Given the description of an element on the screen output the (x, y) to click on. 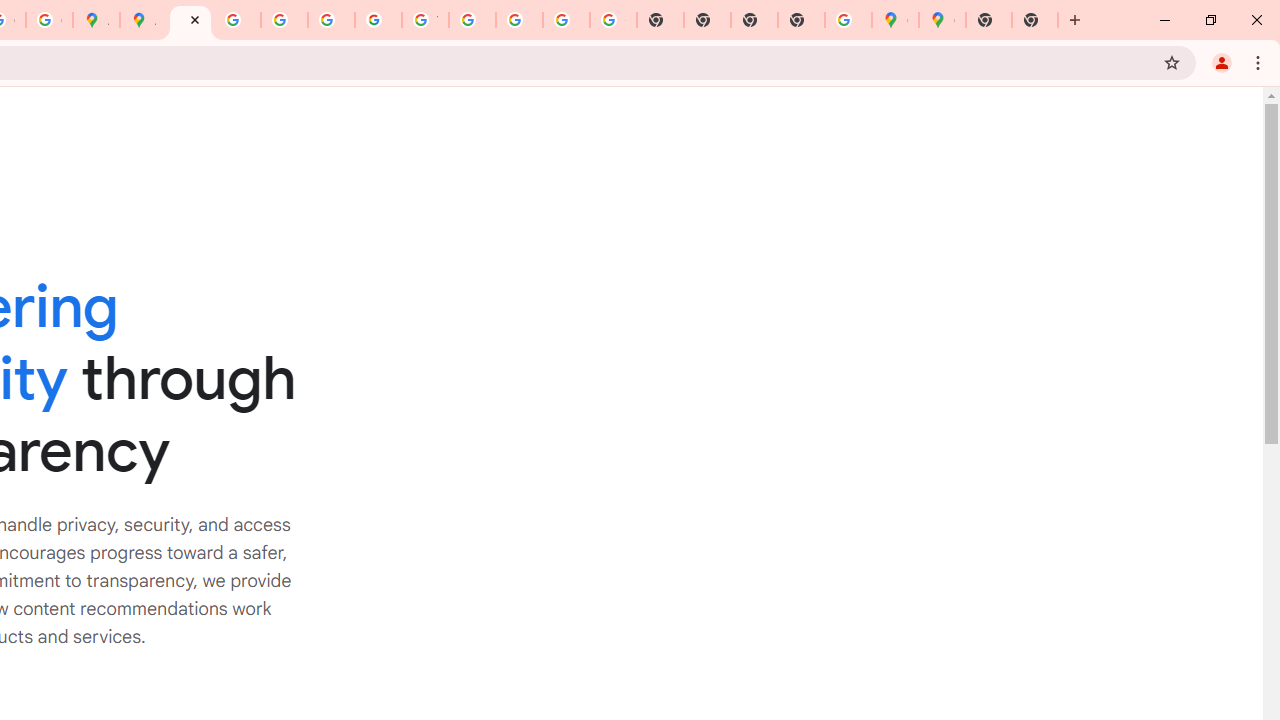
Google Maps (942, 20)
Use Google Maps in Space - Google Maps Help (848, 20)
New Tab (989, 20)
Policy Accountability and Transparency - Transparency Center (189, 20)
Privacy Help Center - Policies Help (284, 20)
Google Maps (895, 20)
